Given the description of an element on the screen output the (x, y) to click on. 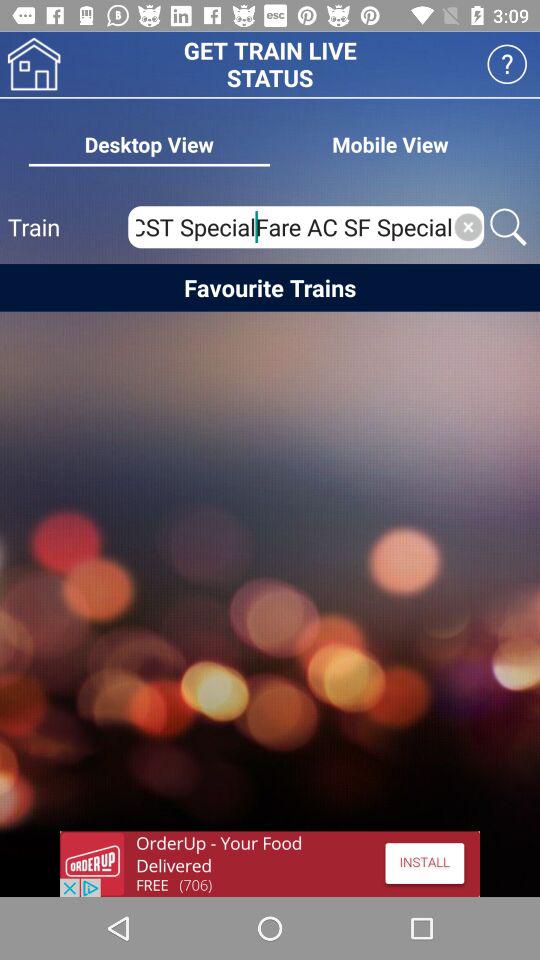
clear text box (468, 227)
